Given the description of an element on the screen output the (x, y) to click on. 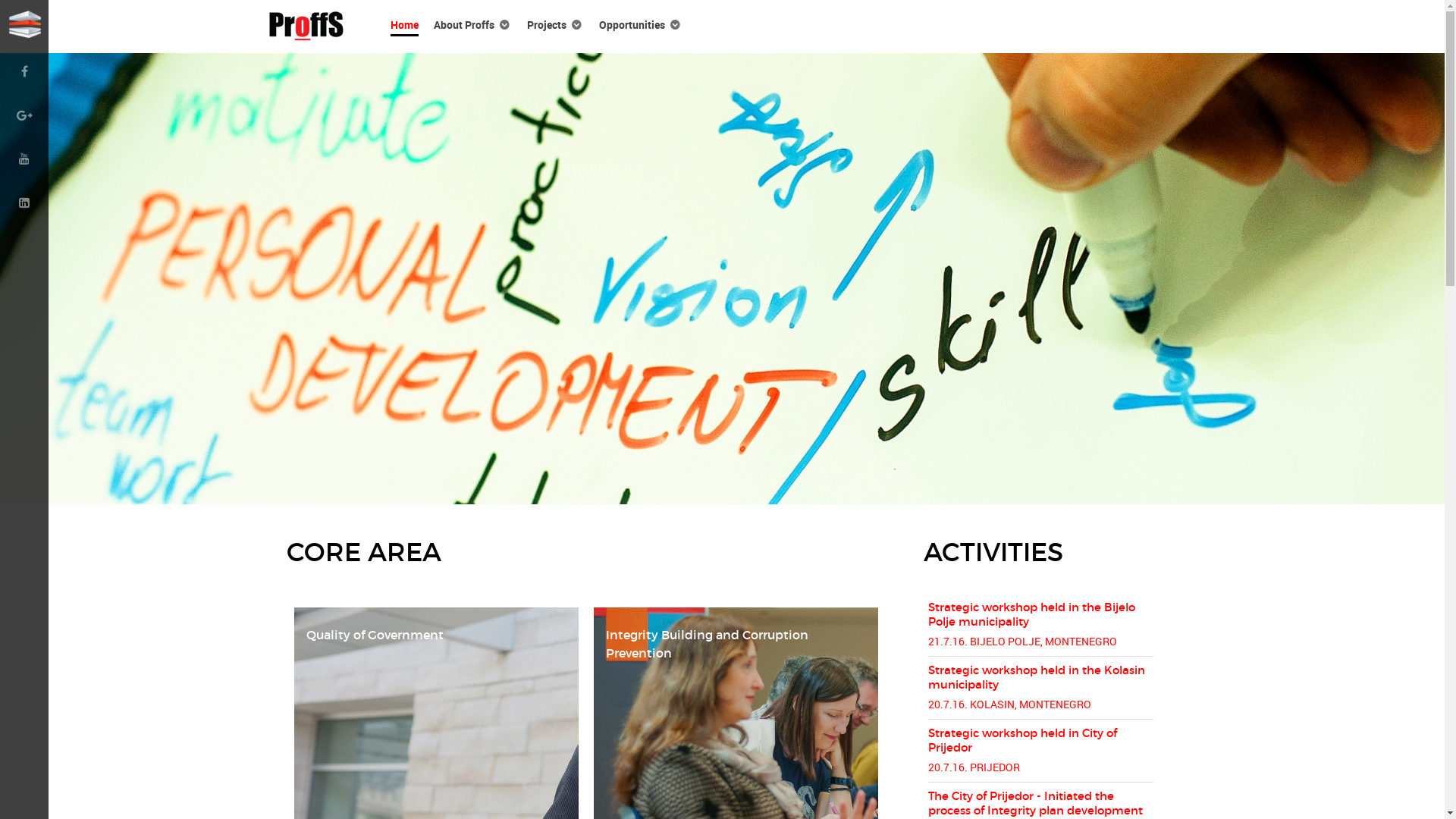
21.7.16. BIJELO POLJE, MONTENEGRO Element type: text (1022, 640)
About Proffs Element type: text (472, 23)
20.7.16. KOLASIN, MONTENEGRO Element type: text (1009, 703)
Strategic workshop held in City of Prijedor Element type: text (1022, 739)
Home Element type: text (403, 24)
Projects Element type: text (554, 23)
20.7.16. PRIJEDOR Element type: text (973, 766)
Opportunities Element type: text (640, 23)
Strategic workshop held in the Bijelo Polje municipality Element type: text (1031, 613)
Strategic workshop held in the Kolasin municipality Element type: text (1036, 676)
